Given the description of an element on the screen output the (x, y) to click on. 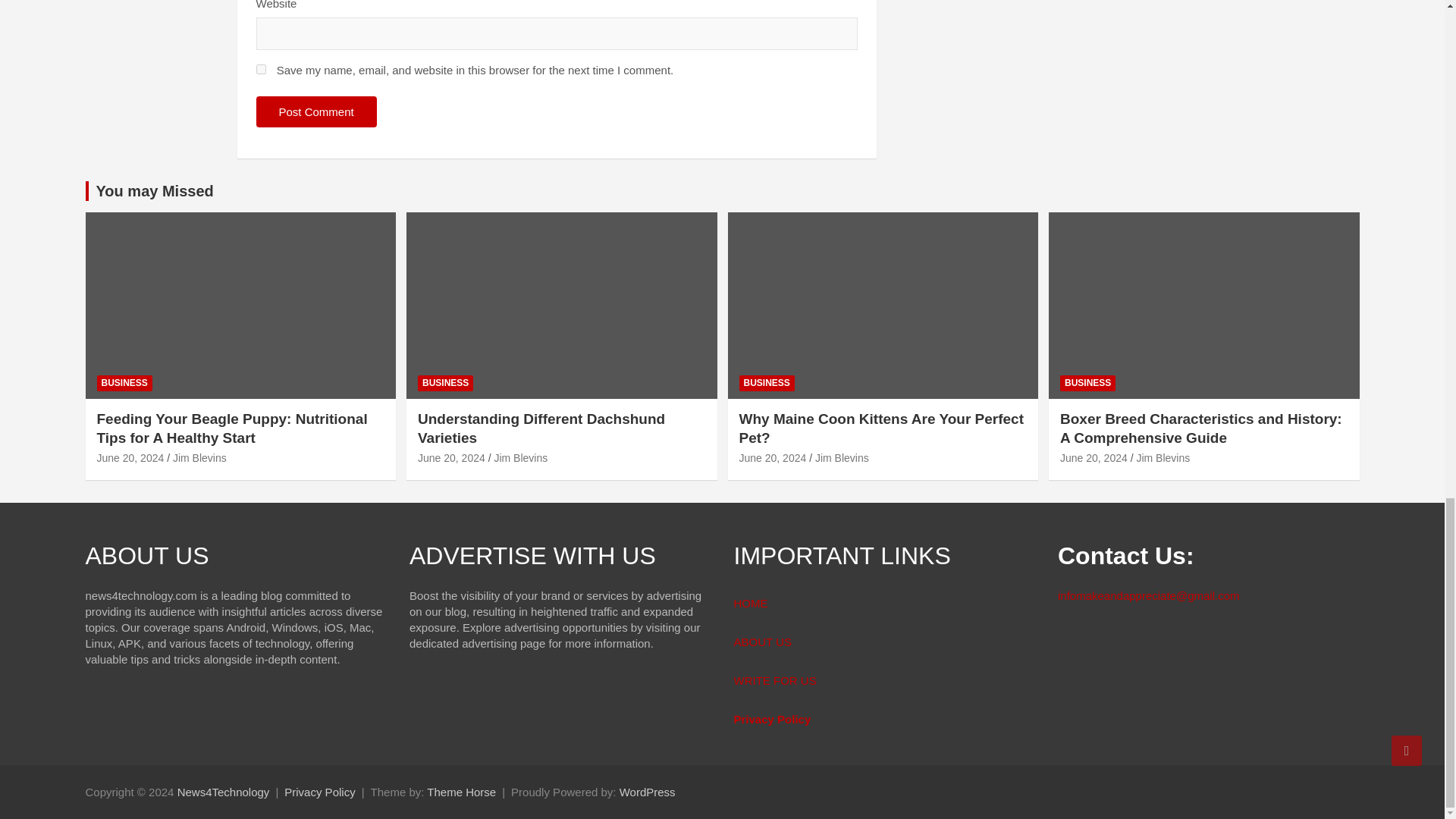
News4Technology (223, 791)
Post Comment (316, 111)
yes (261, 69)
WordPress (647, 791)
Why Maine Coon Kittens Are Your Perfect Pet? (772, 458)
Theme Horse (461, 791)
Understanding Different Dachshund Varieties (450, 458)
Post Comment (316, 111)
